Given the description of an element on the screen output the (x, y) to click on. 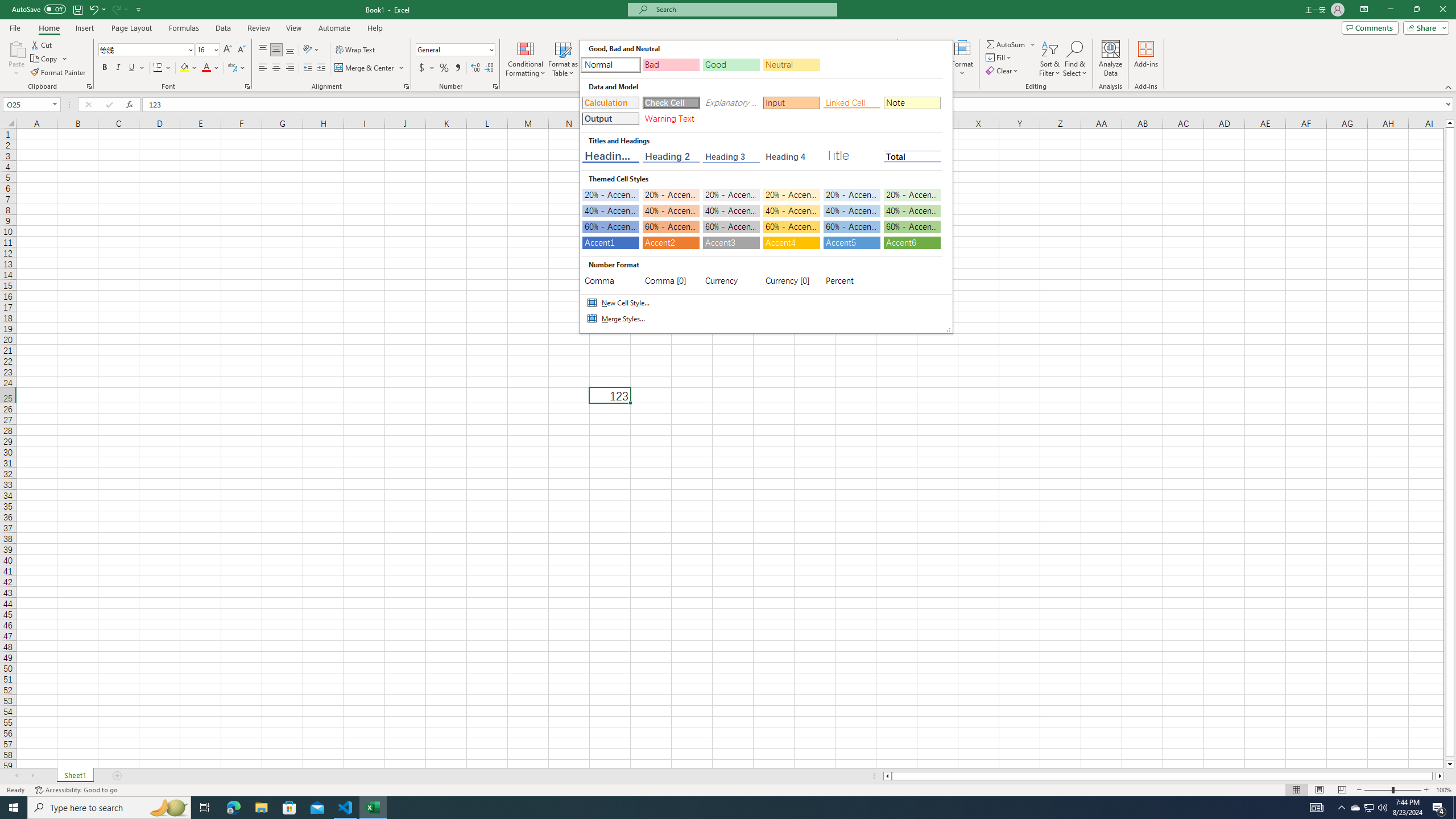
Italic (118, 67)
Fill Color (188, 67)
Show Phonetic Field (231, 67)
AutomationID: 4105 (1316, 807)
Format Cell Number (1355, 807)
Middle Align (494, 85)
Decrease Font Size (276, 49)
Task View (240, 49)
